Given the description of an element on the screen output the (x, y) to click on. 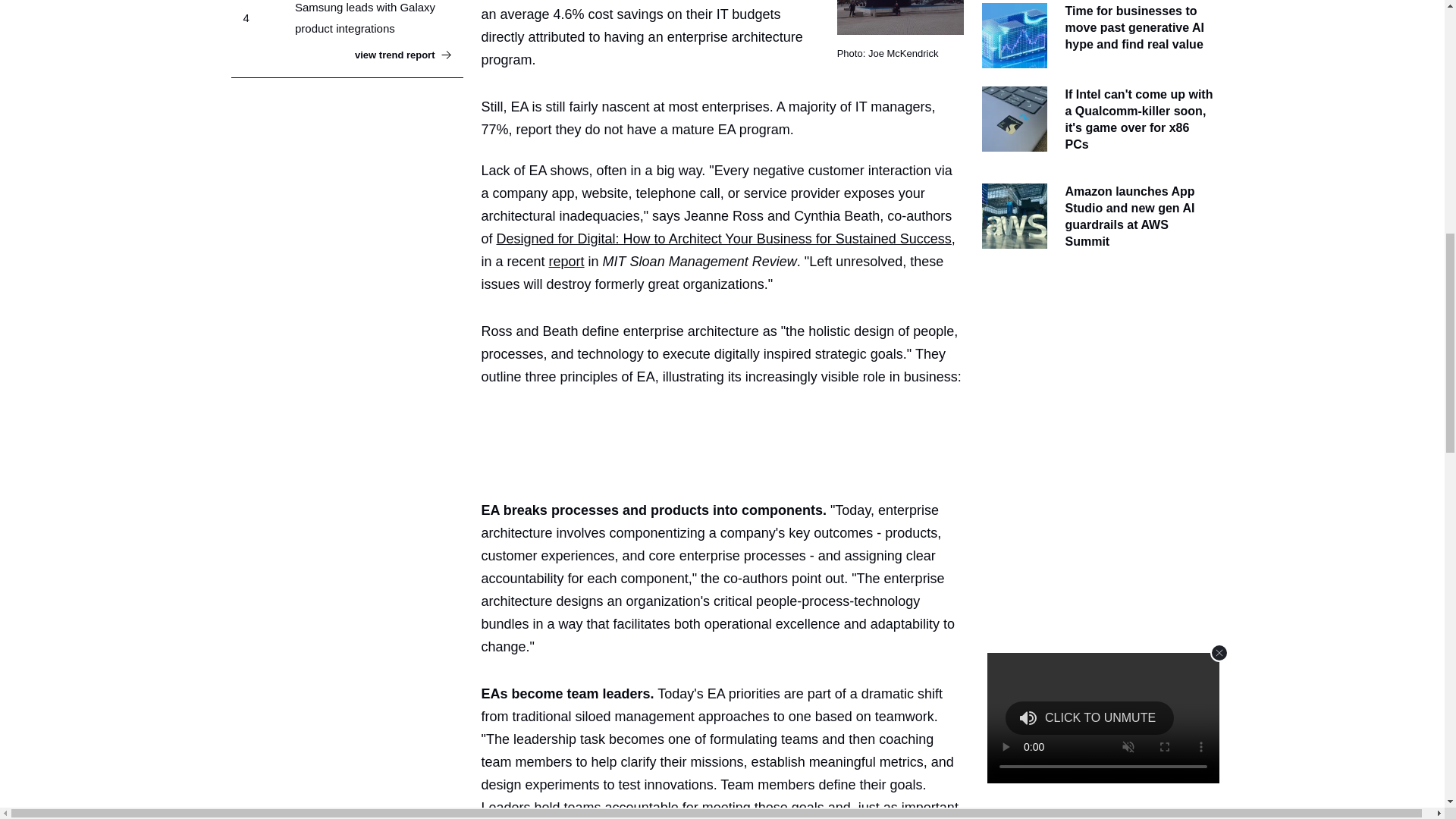
3rd party ad content (727, 440)
3rd party ad content (1097, 375)
